Given the description of an element on the screen output the (x, y) to click on. 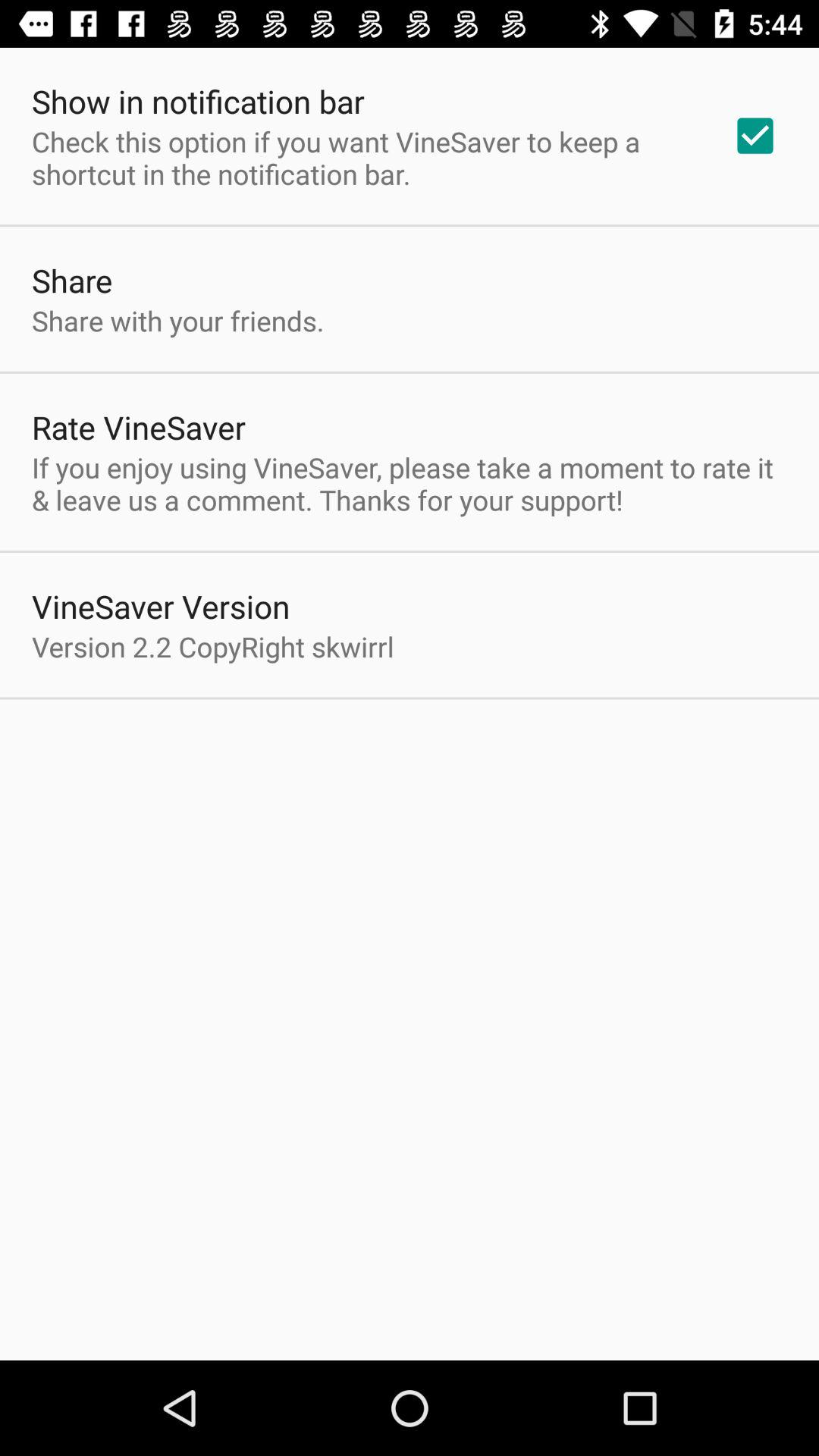
jump to the check this option app (361, 157)
